Given the description of an element on the screen output the (x, y) to click on. 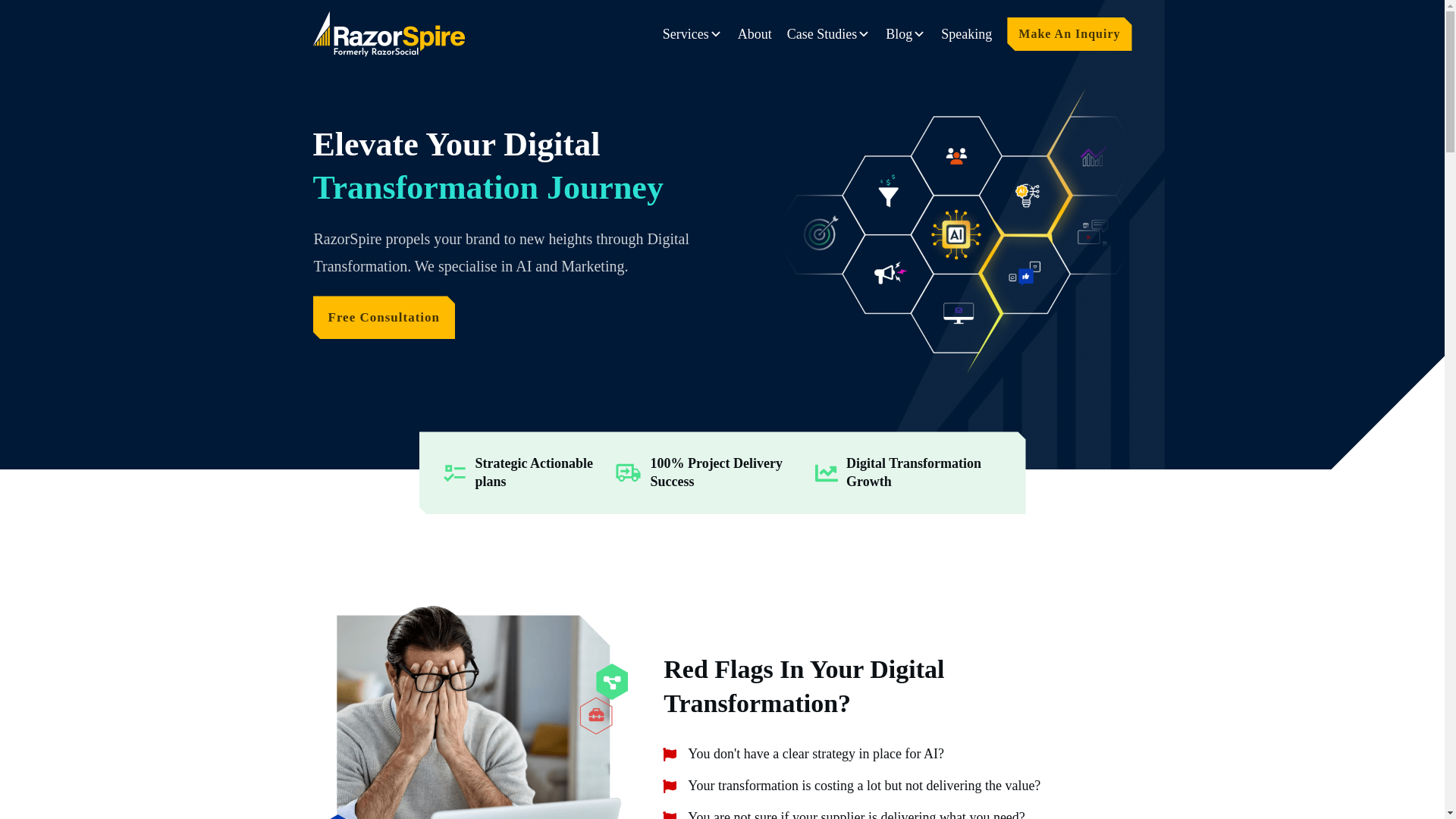
Blog (905, 34)
Free Consultation (383, 317)
Make An Inquiry (1068, 34)
Case Studies (828, 34)
About (754, 34)
Speaking (965, 34)
img-home-hero-v3 (954, 230)
Services (692, 34)
